Given the description of an element on the screen output the (x, y) to click on. 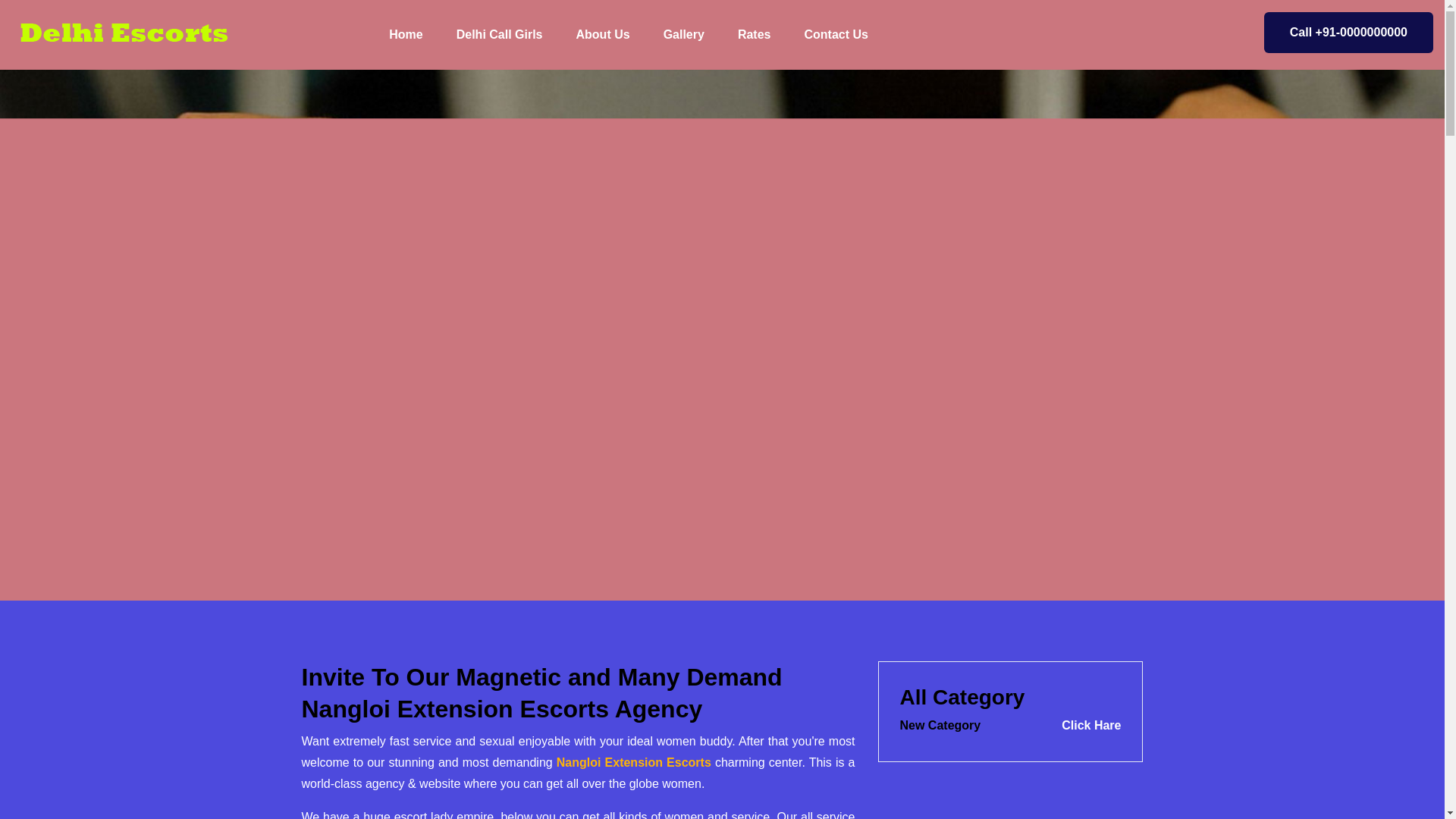
About Us (602, 34)
Gallery (683, 34)
Nangloi Extension Escorts (633, 762)
Contact Us (835, 34)
Delhi Call Girls (499, 34)
Nangloi Extension Escorts (633, 762)
Rates (939, 725)
